Given the description of an element on the screen output the (x, y) to click on. 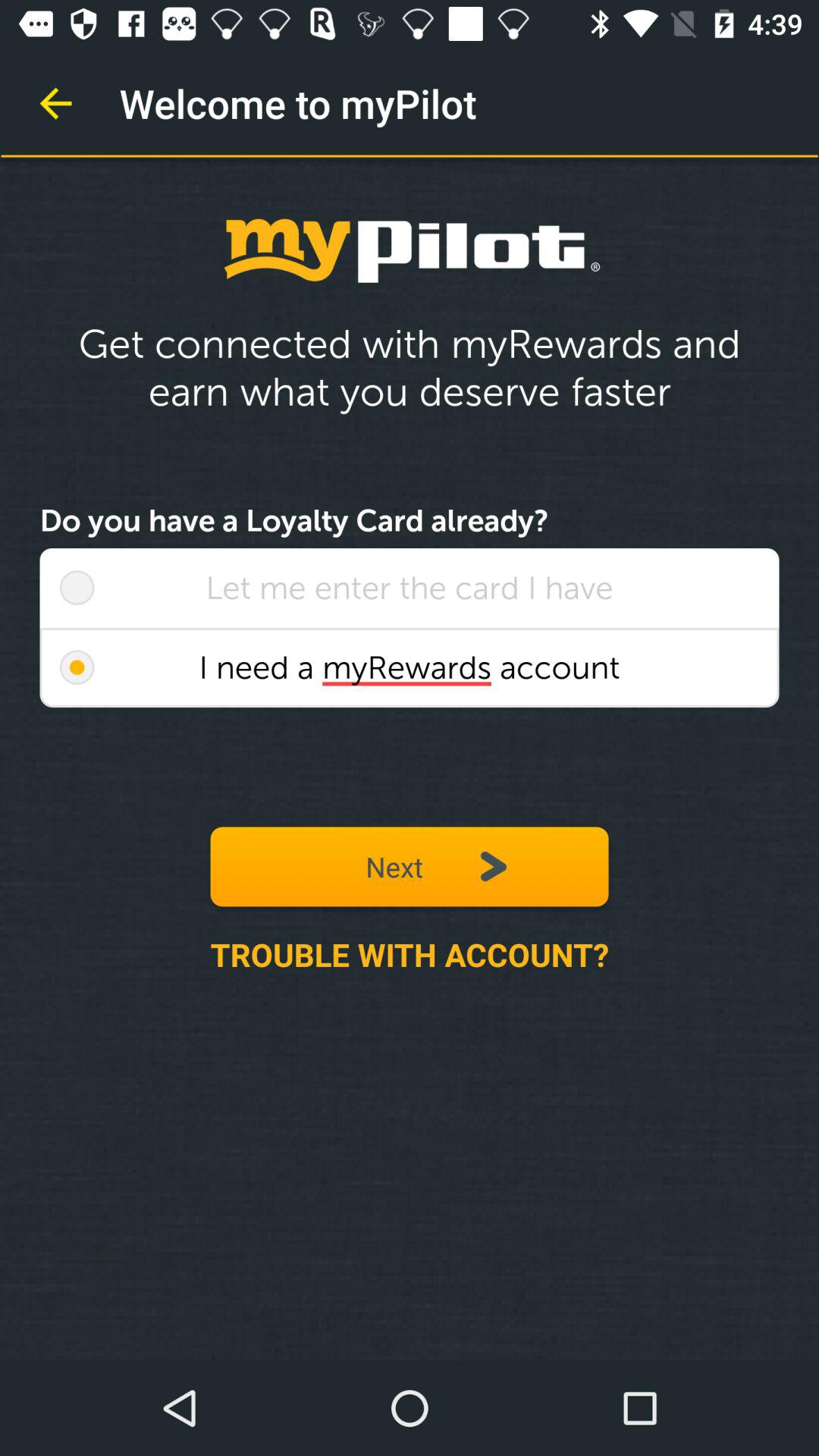
swipe until the trouble with account? item (409, 954)
